Given the description of an element on the screen output the (x, y) to click on. 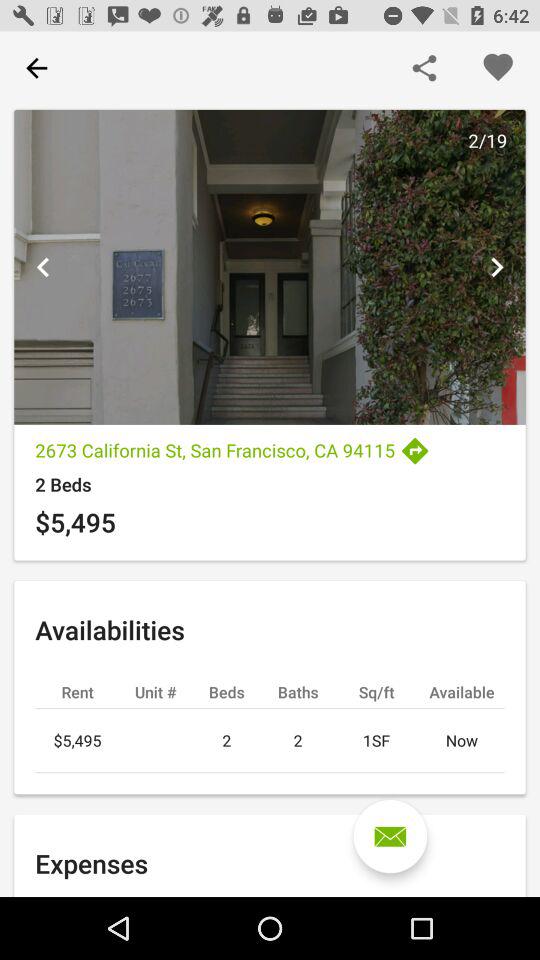
go to mail inbox (389, 836)
